Given the description of an element on the screen output the (x, y) to click on. 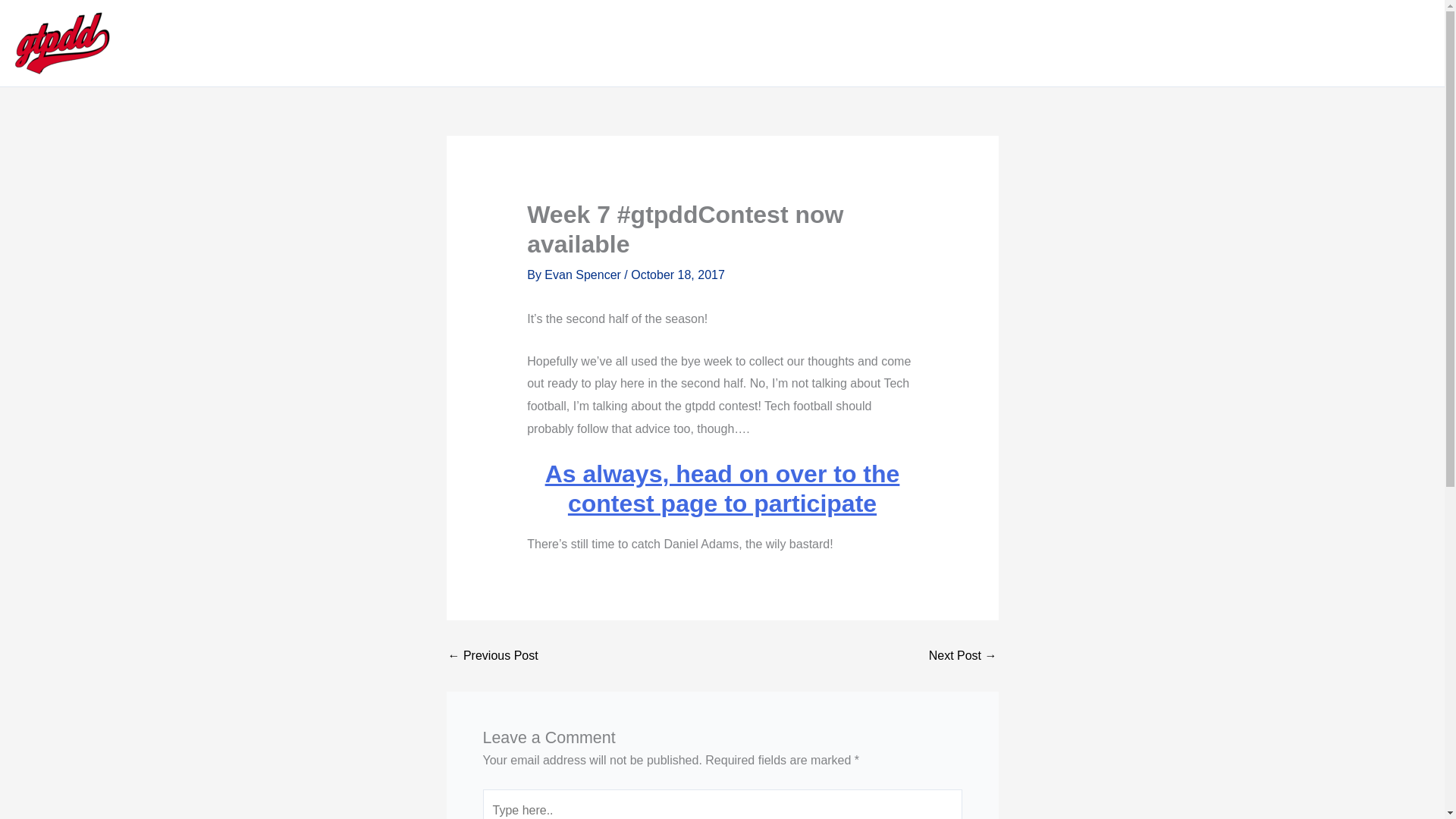
Shop (763, 39)
Blocked! Tech's confusing final play at UAB (491, 655)
As always, head on over to the contest page to participate (721, 488)
View all posts by Evan Spencer (584, 274)
Mid-season Predictions Review (962, 655)
Contest (1083, 39)
What is gtpdd? (1297, 39)
Evan Spencer (584, 274)
Podcast (916, 39)
